Given the description of an element on the screen output the (x, y) to click on. 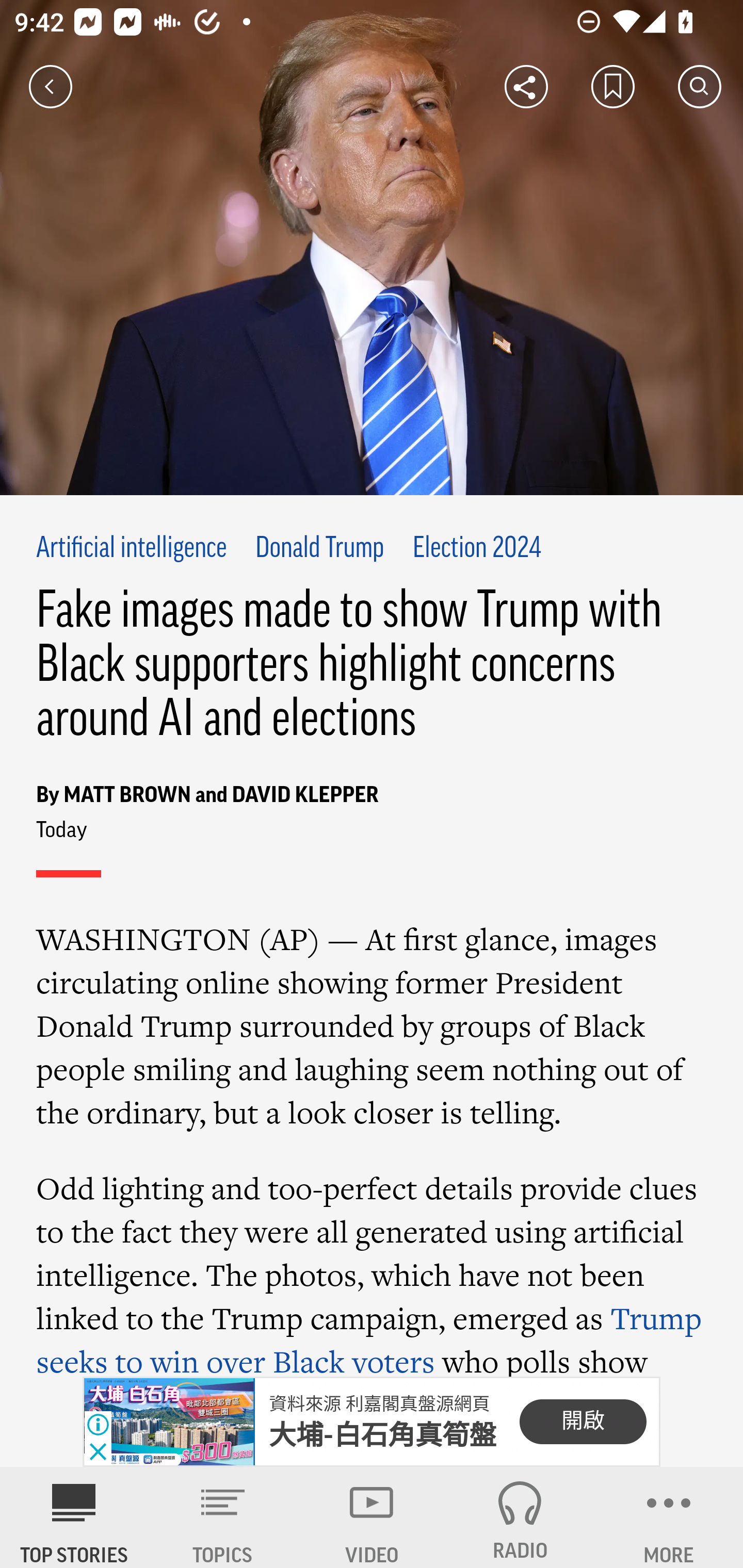
Artificial intelligence (131, 549)
Donald Trump (319, 549)
Election 2024 (476, 549)
Trump seeks to win over Black voters (369, 1336)
B30001746 (168, 1421)
資料來源 利嘉閣真盤源網頁 (379, 1403)
開啟 (582, 1421)
大埔-白石角真筍盤 (382, 1434)
AP News TOP STORIES (74, 1517)
TOPICS (222, 1517)
VIDEO (371, 1517)
RADIO (519, 1517)
MORE (668, 1517)
